Given the description of an element on the screen output the (x, y) to click on. 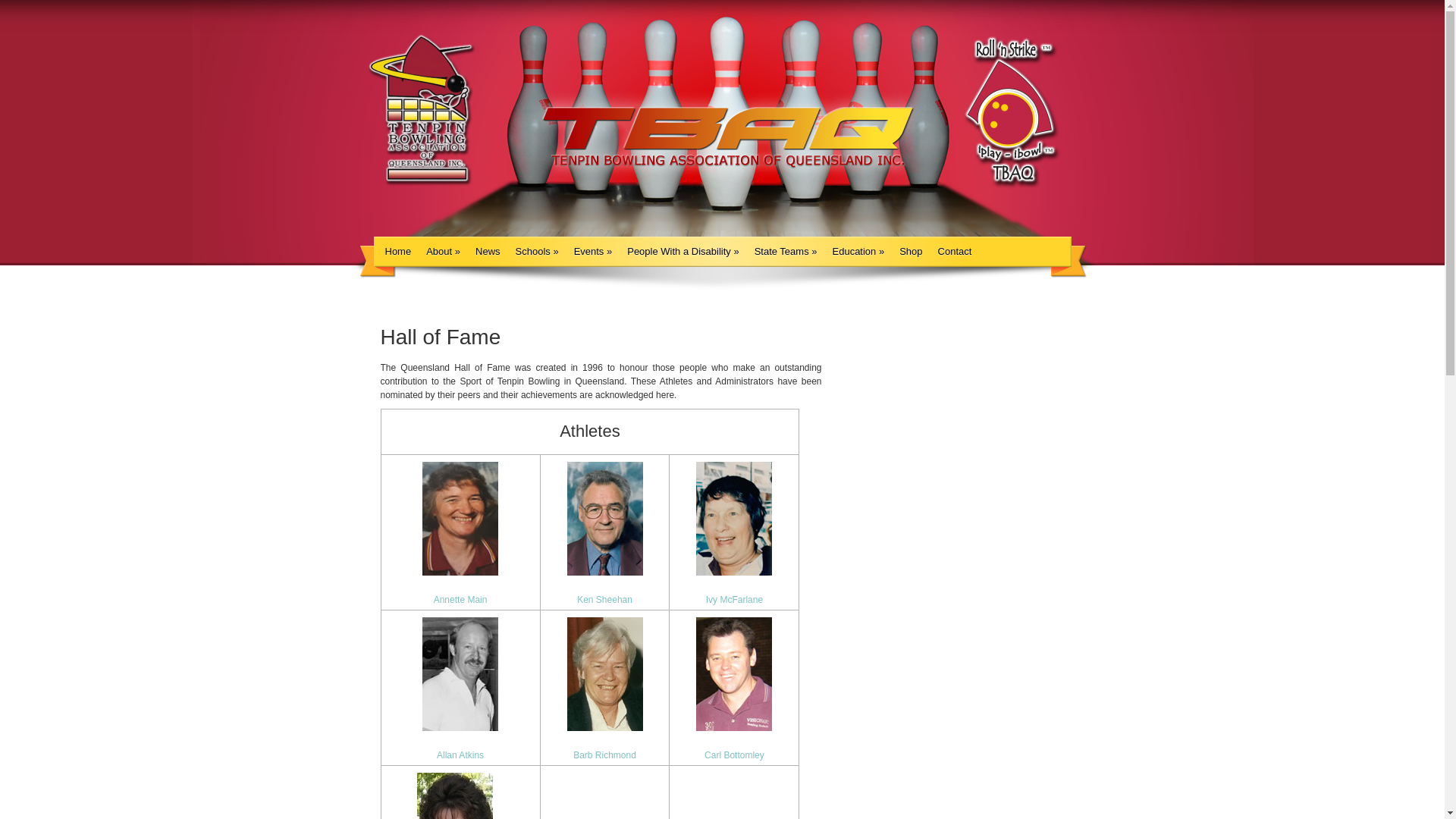
Carl Bottomley Element type: text (734, 754)
Schools Element type: text (536, 251)
People With a Disability Element type: text (682, 251)
Allan Atkins Element type: text (459, 754)
Barb Richmond Element type: hover (604, 681)
Events Element type: text (593, 251)
Annette Main Element type: text (460, 599)
Education Element type: text (858, 251)
State Teams Element type: text (785, 251)
News Element type: text (487, 251)
Barb Richmond Element type: text (604, 754)
Ken Sheehan Element type: text (604, 599)
Annette Main Element type: hover (459, 526)
Home Element type: text (398, 251)
Ivy McFarlane Element type: text (734, 599)
Shop Element type: text (910, 251)
About Element type: text (443, 251)
Carl Bottomley Element type: hover (733, 681)
Contact Element type: text (955, 251)
